Given the description of an element on the screen output the (x, y) to click on. 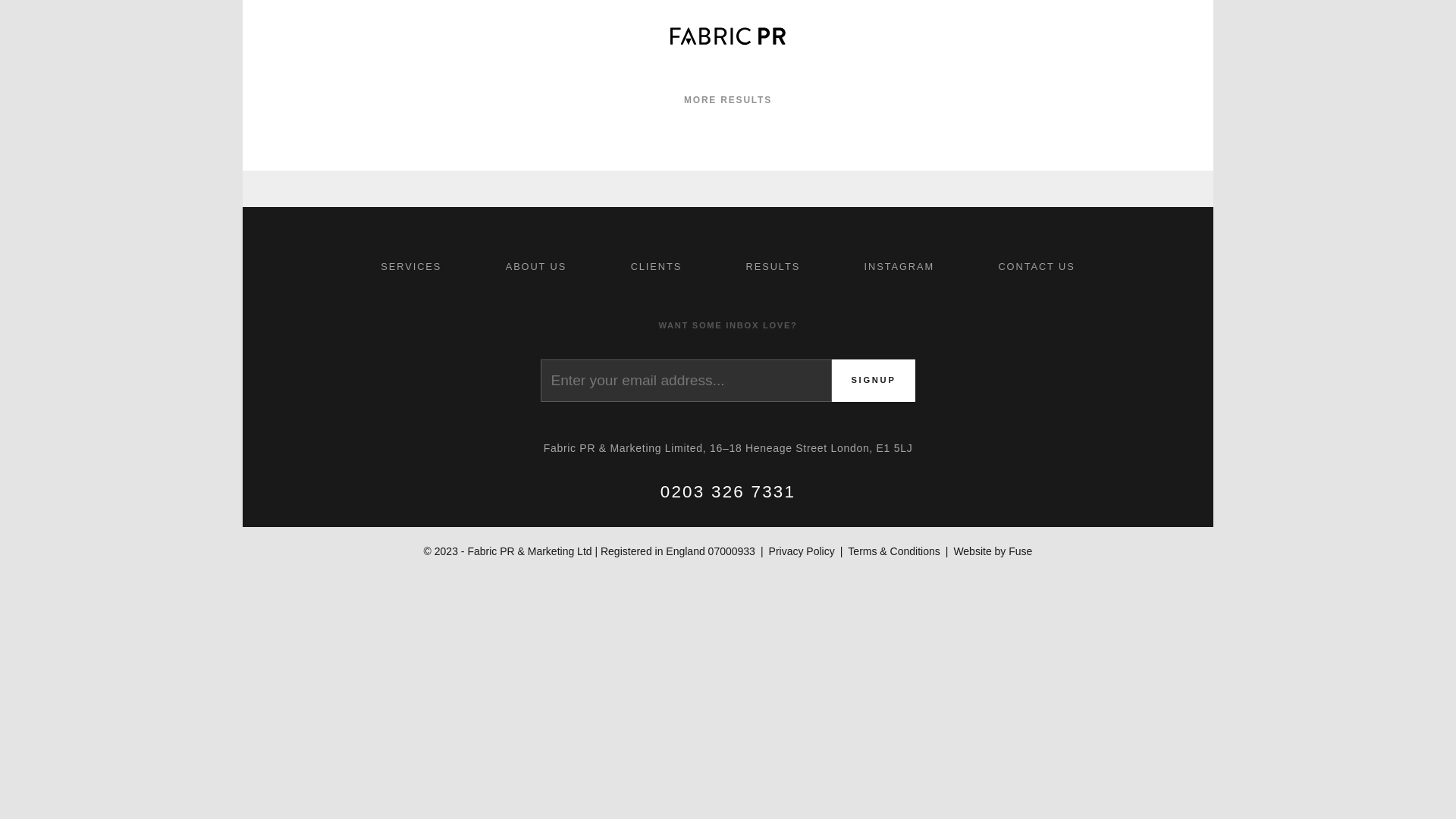
CONTACT US (121, 525)
RESULTS (773, 266)
STORIES (121, 384)
INSTAGRAM (898, 266)
CLIENTS (655, 266)
SERVICES (121, 195)
SIGNUP (872, 380)
ABOUT US (121, 242)
RESULTS (121, 337)
Show menu (288, 37)
